Given the description of an element on the screen output the (x, y) to click on. 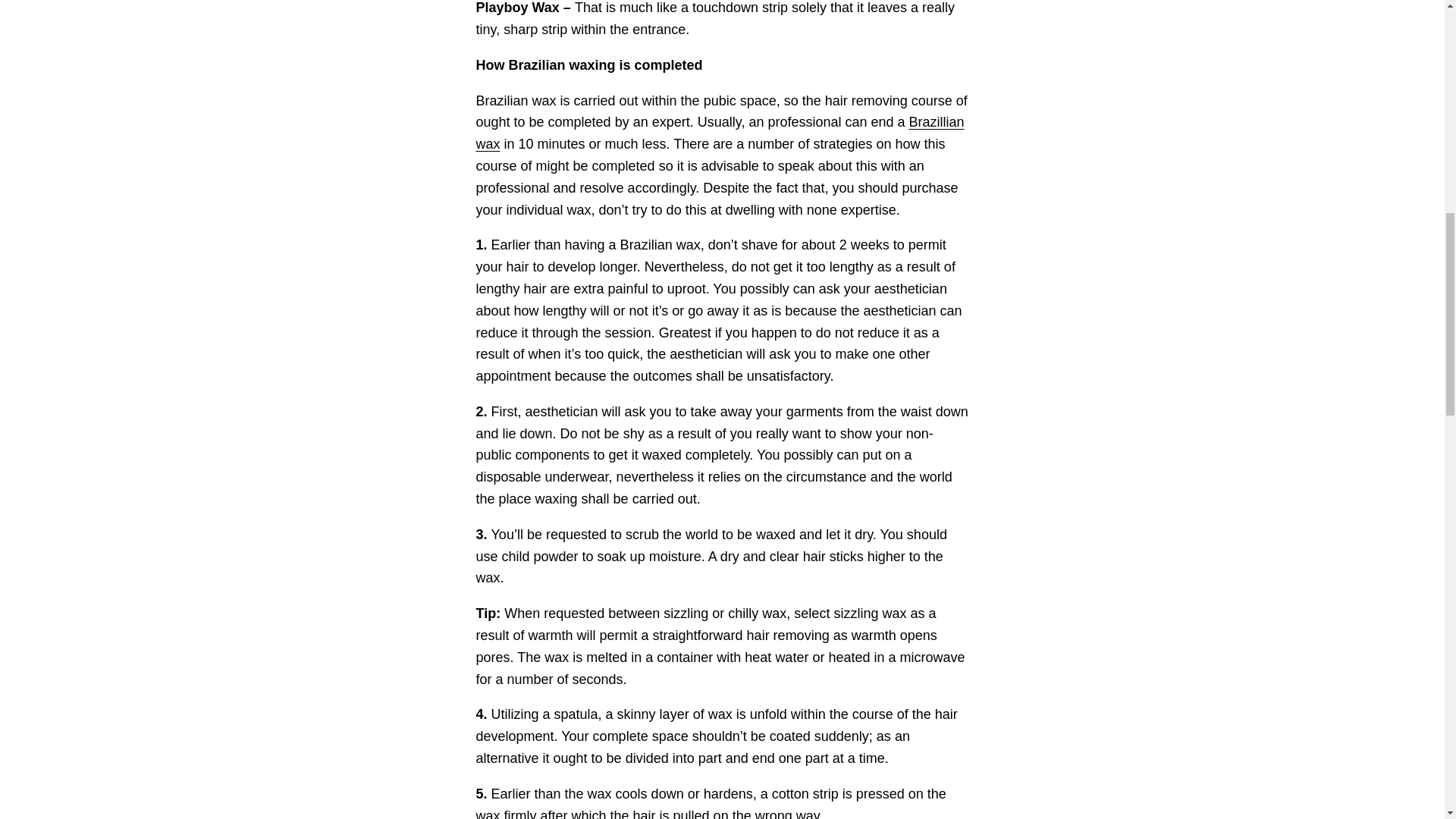
Brazillian wax (719, 132)
